Given the description of an element on the screen output the (x, y) to click on. 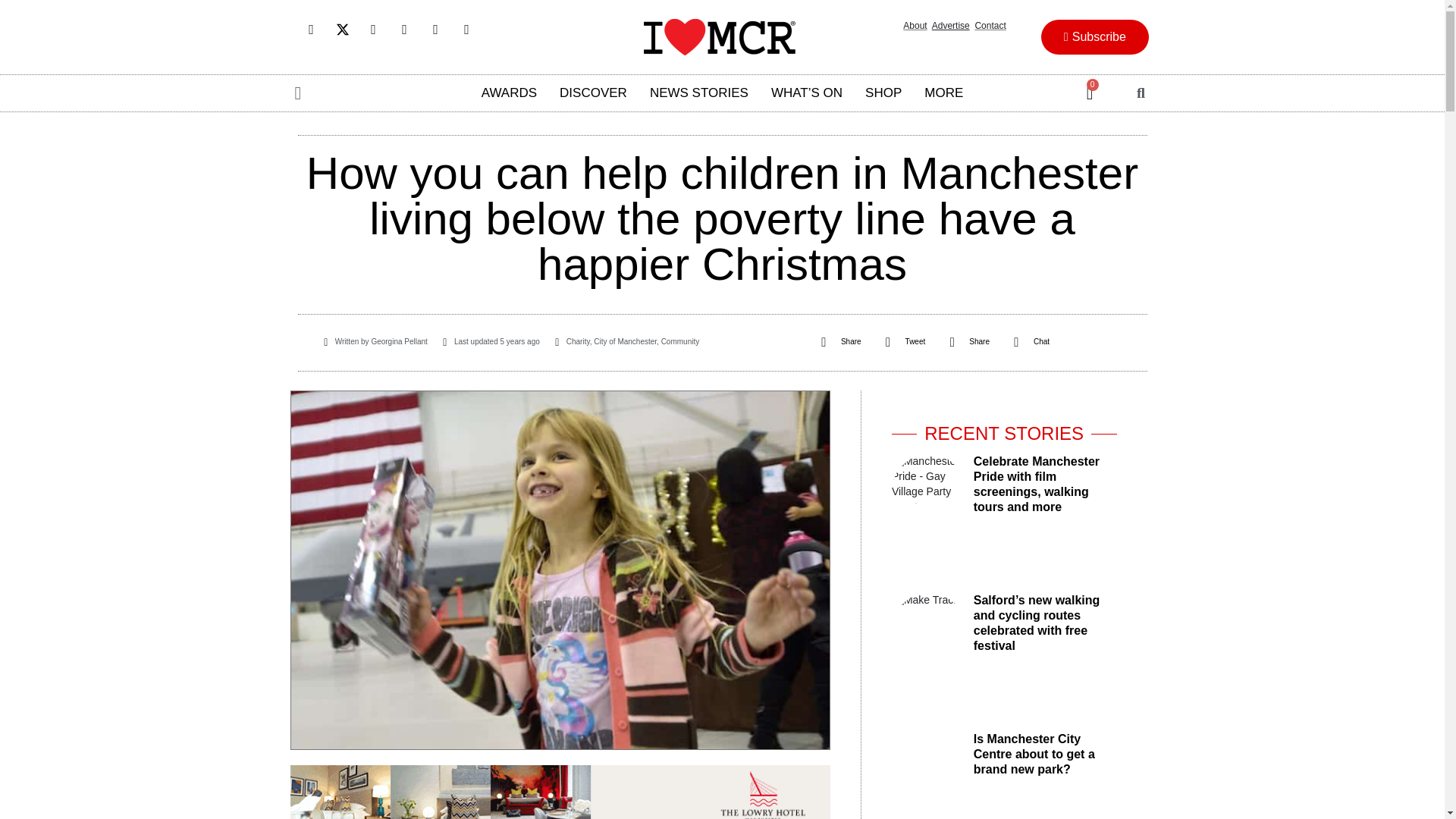
DISCOVER (593, 93)
Subscribe (1094, 36)
Advertise (950, 25)
AWARDS (509, 93)
About (914, 25)
NEWS STORIES (699, 93)
Contact (990, 25)
ilovemcr-website-logo 544 (718, 36)
